Given the description of an element on the screen output the (x, y) to click on. 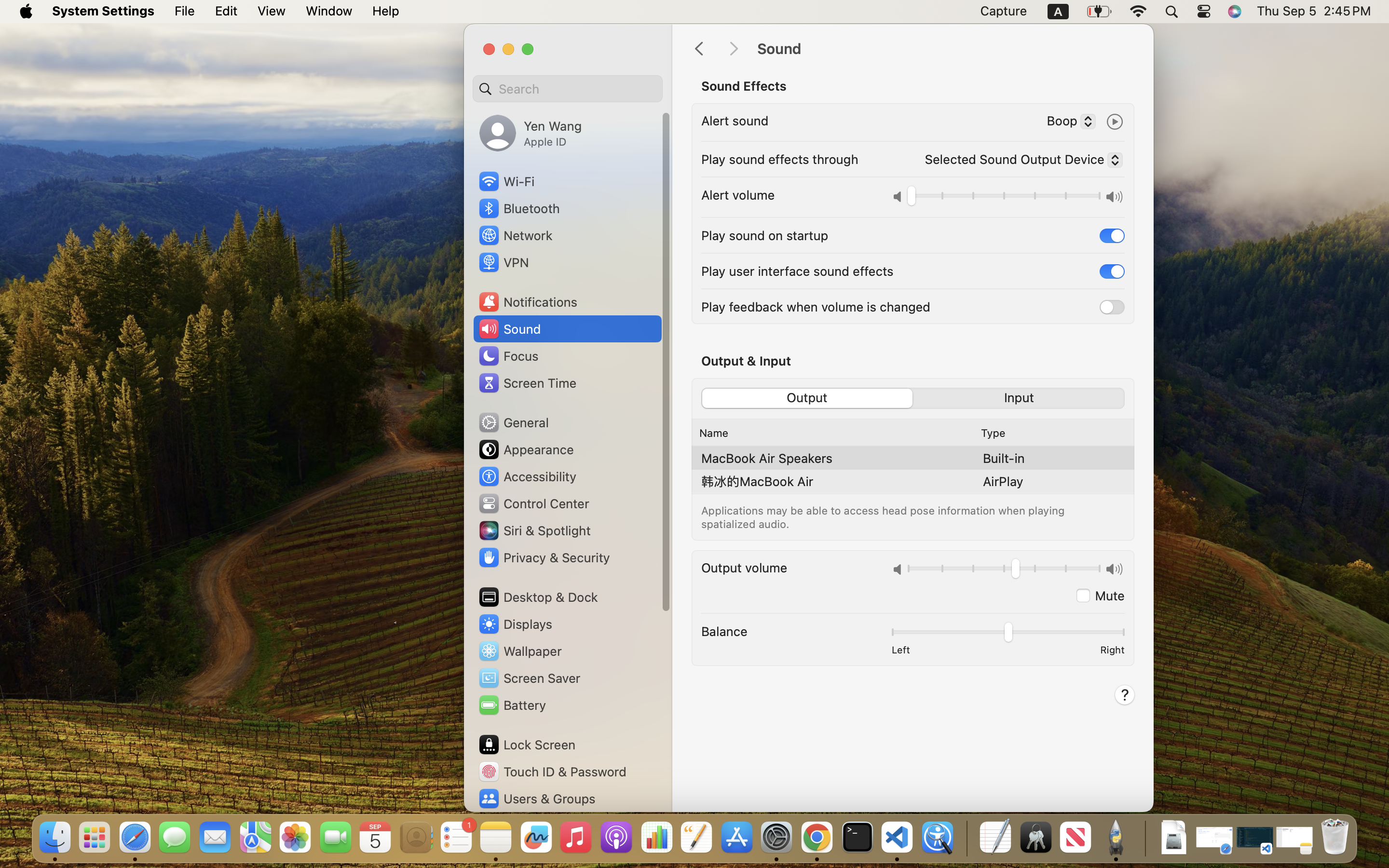
Alert volume Element type: AXStaticText (737, 194)
VPN Element type: AXStaticText (502, 261)
Displays Element type: AXStaticText (514, 623)
Bluetooth Element type: AXStaticText (518, 207)
Play sound on startup Element type: AXStaticText (764, 235)
